Given the description of an element on the screen output the (x, y) to click on. 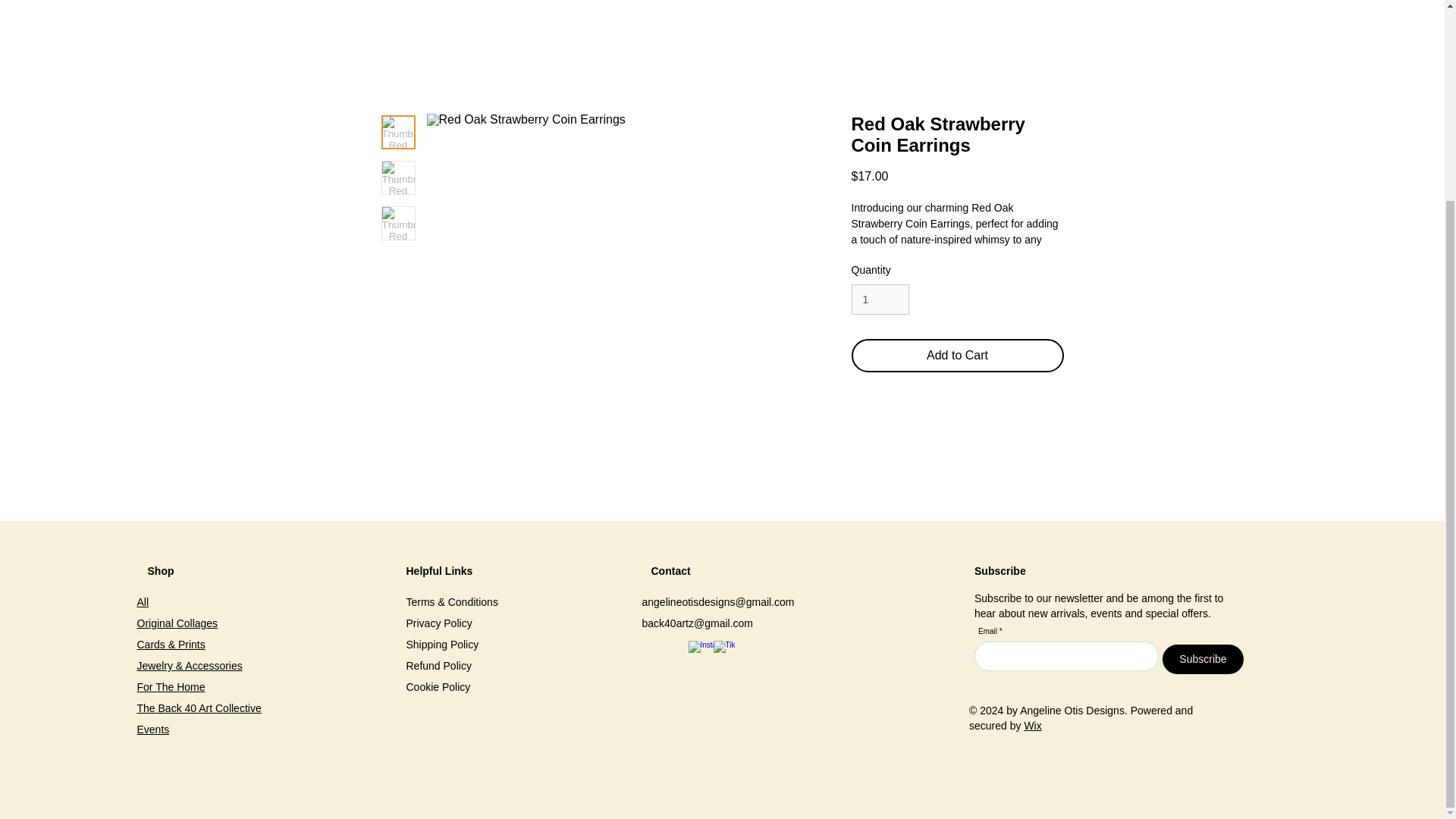
The Back 40 Art Collective (198, 707)
Add to Cart (956, 355)
For The Home (170, 686)
Refund Policy (438, 665)
Cookie Policy (438, 686)
Original Collages (176, 623)
All (142, 602)
Privacy Policy (438, 623)
1 (879, 299)
Shipping Policy (442, 644)
Events (152, 729)
